Given the description of an element on the screen output the (x, y) to click on. 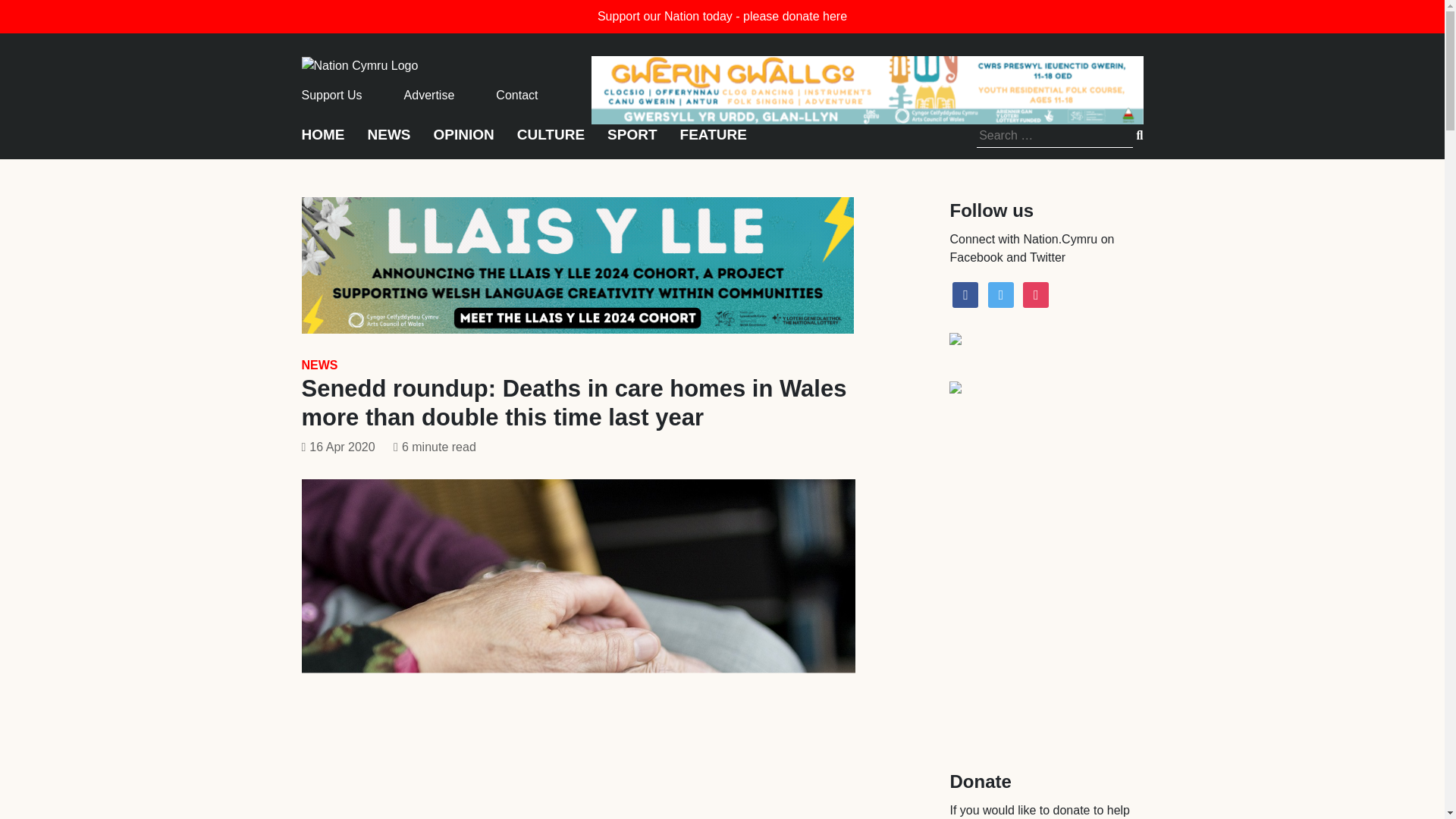
NEWS (388, 141)
home (360, 64)
FEATURE (712, 141)
CULTURE (550, 141)
NEWS (319, 364)
Contact (516, 94)
HOME (323, 141)
Advertise (429, 94)
Support Us (331, 94)
OPINION (464, 141)
SPORT (631, 141)
